Given the description of an element on the screen output the (x, y) to click on. 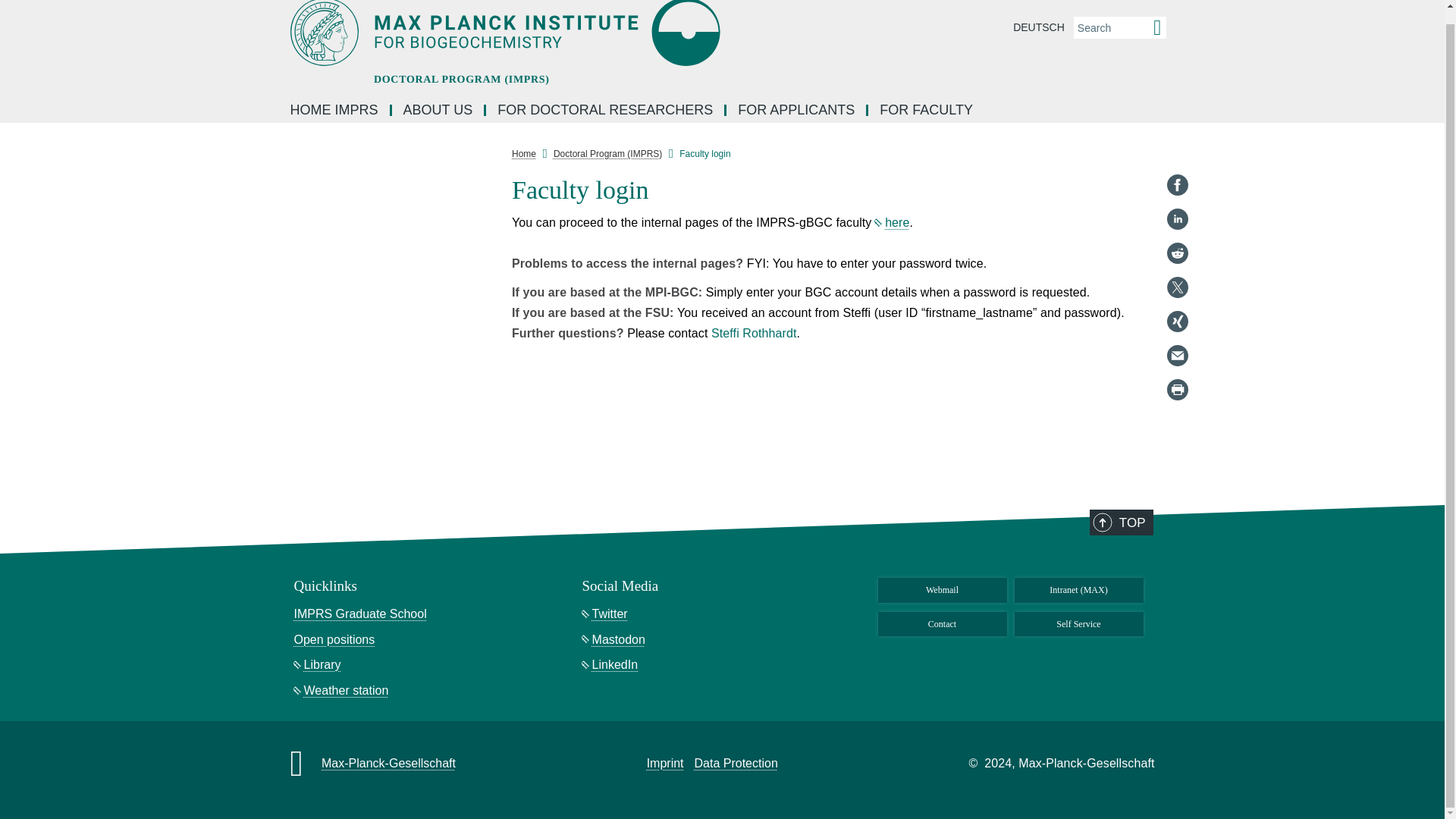
FOR DOCTORAL RESEARCHERS (606, 110)
Xing (1177, 307)
Facebook (1177, 170)
Reddit (1177, 239)
Twitter (1177, 273)
Print (1177, 375)
ABOUT US (438, 110)
FOR APPLICANTS (796, 110)
DEUTSCH (1038, 27)
LinkedIn (1177, 205)
